Given the description of an element on the screen output the (x, y) to click on. 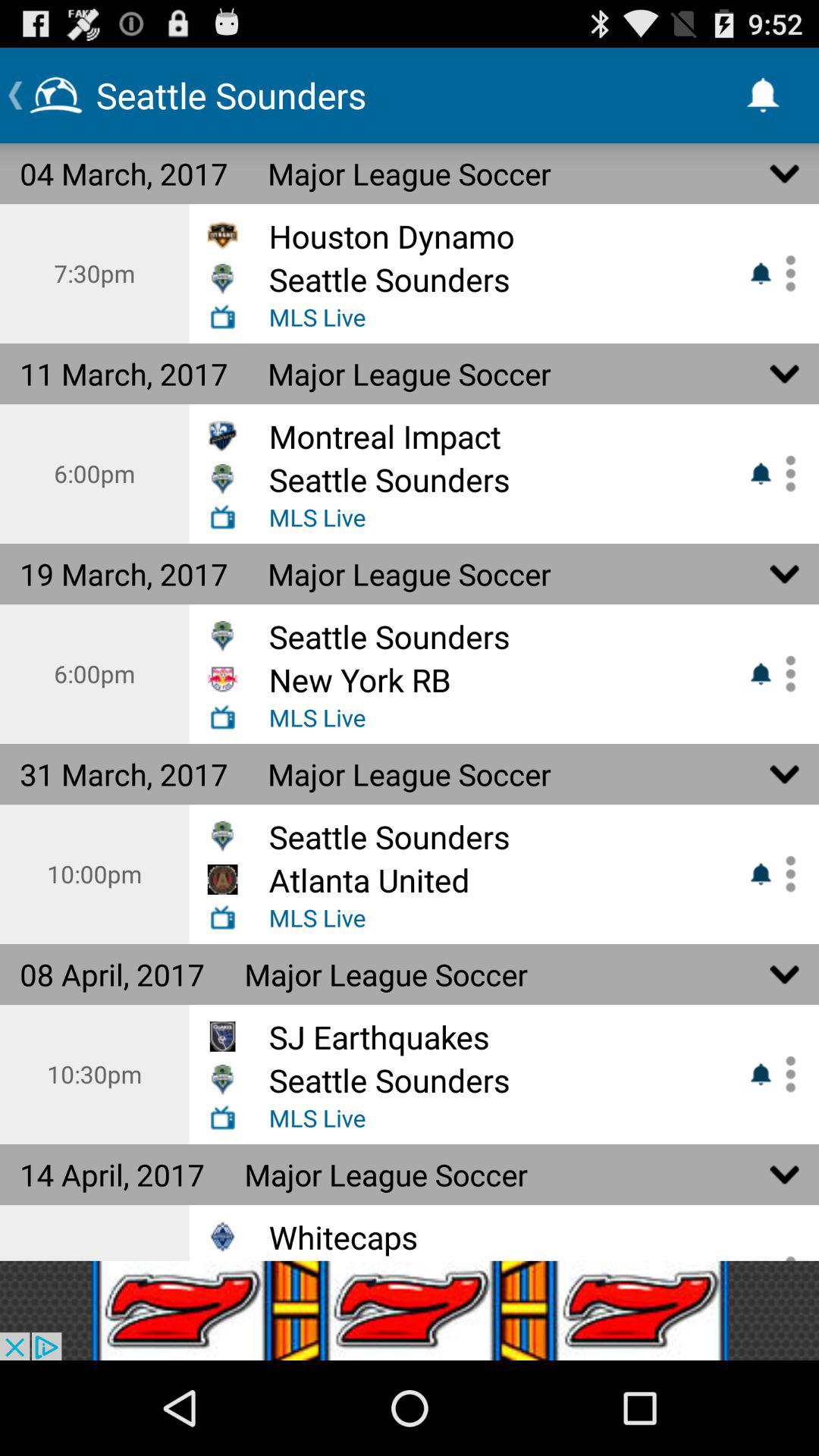
setting option (785, 473)
